Given the description of an element on the screen output the (x, y) to click on. 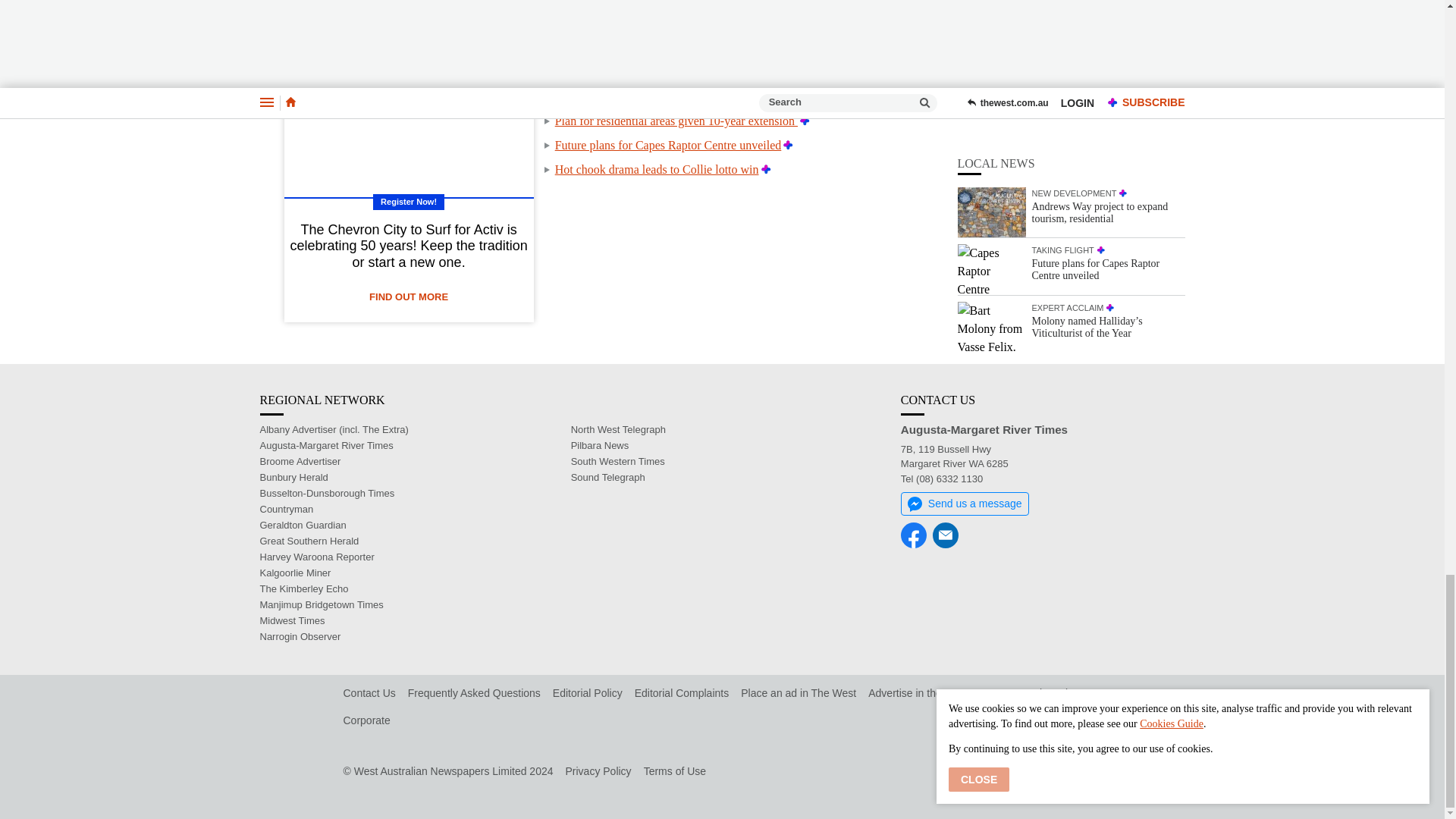
Premium (787, 144)
Premium (766, 169)
Premium (831, 47)
Premium (814, 96)
Premium (796, 72)
Premium (803, 120)
